Given the description of an element on the screen output the (x, y) to click on. 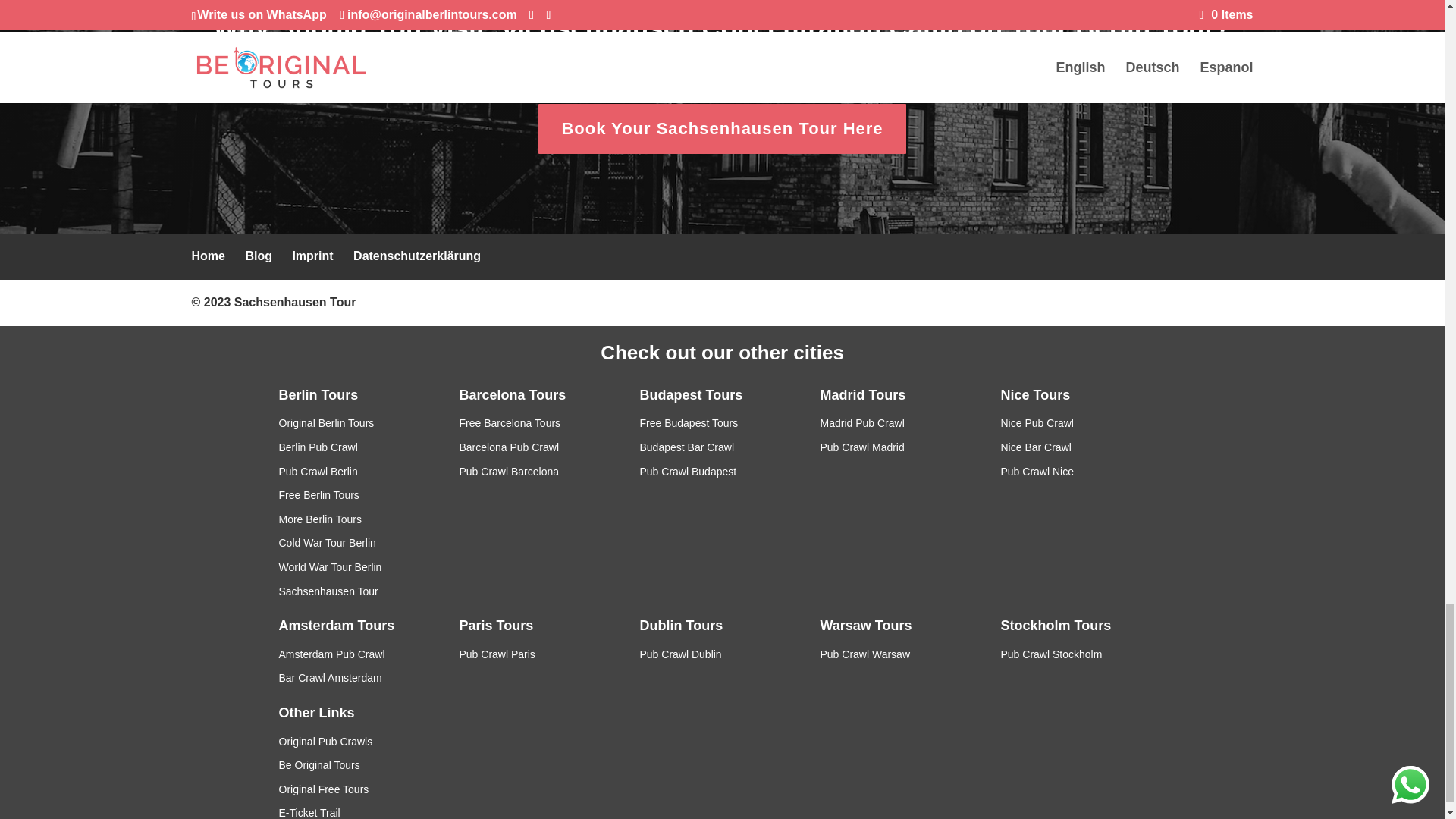
Blog (258, 255)
Book Your Sachsenhausen Tour Here (721, 129)
Sachsenhausen Tour (295, 301)
Original Berlin Tours (326, 422)
More Berlin Tours (320, 519)
World War Tour Berlin (330, 567)
Home (207, 255)
Imprint (312, 255)
Berlin Pub Crawl (318, 447)
Free Berlin Tours (319, 494)
